Given the description of an element on the screen output the (x, y) to click on. 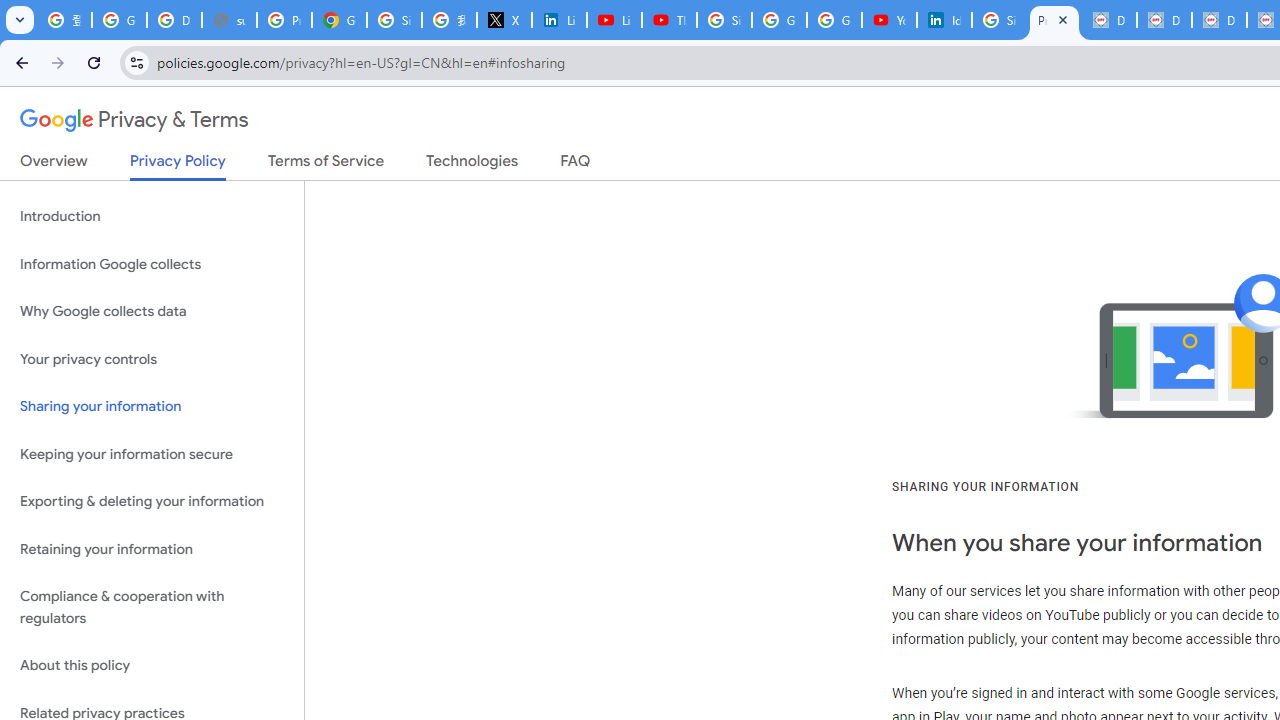
LinkedIn - YouTube (614, 20)
Sign in - Google Accounts (724, 20)
Data Privacy Framework (1108, 20)
